Given the description of an element on the screen output the (x, y) to click on. 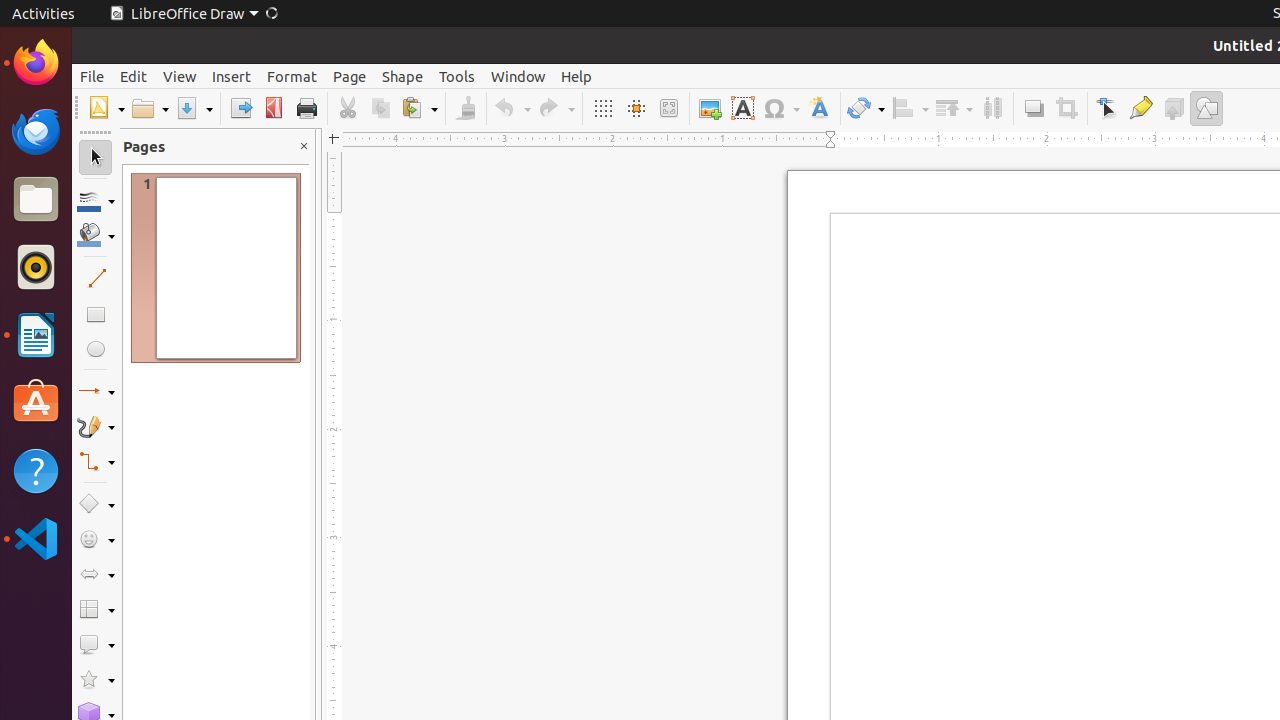
Transformations Element type: push-button (866, 108)
Distribution Element type: push-button (992, 108)
Copy Element type: push-button (380, 108)
Connectors Element type: push-button (96, 461)
Insert Element type: menu (231, 76)
